Given the description of an element on the screen output the (x, y) to click on. 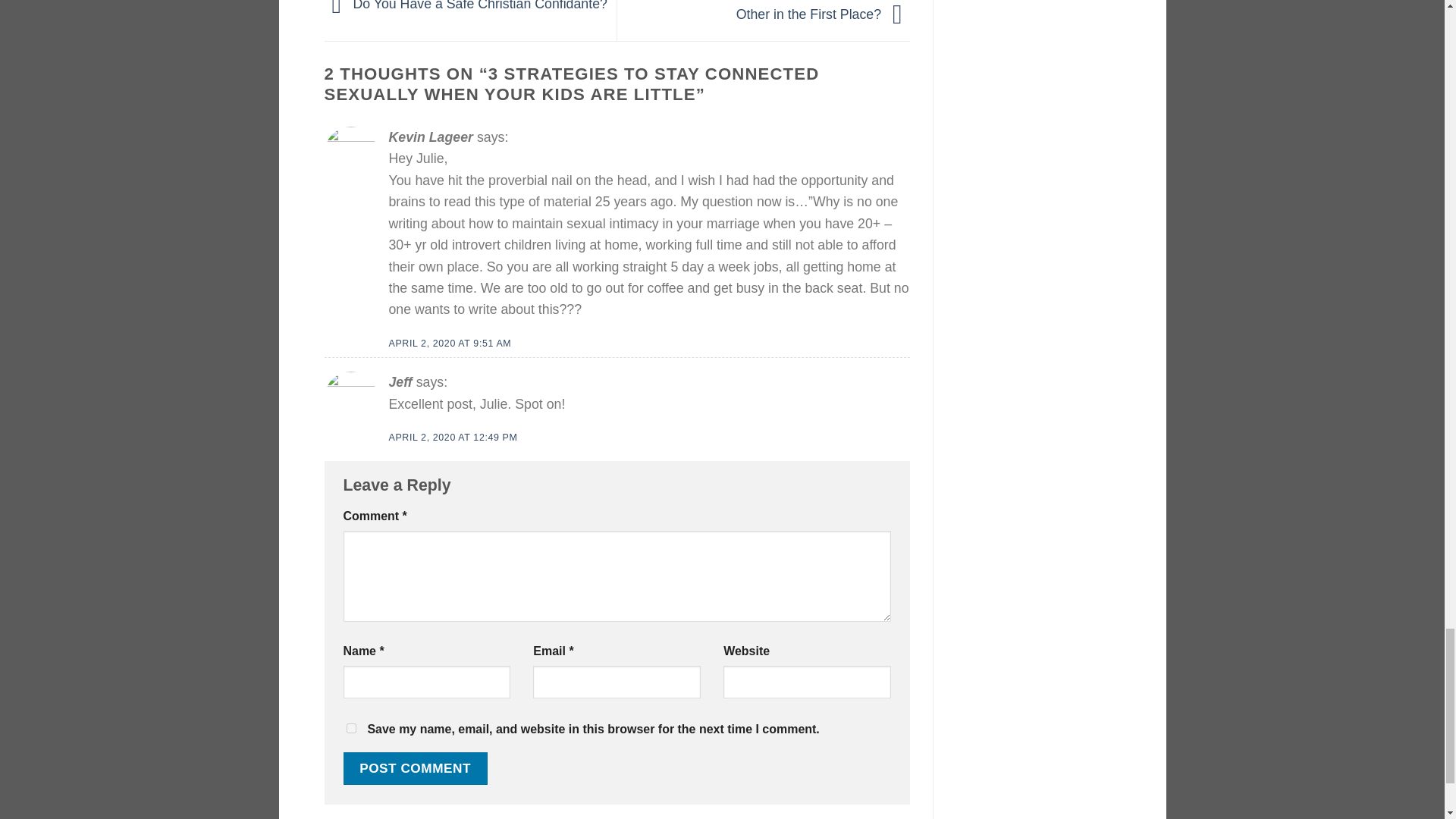
yes (350, 728)
Post Comment (414, 768)
